Given the description of an element on the screen output the (x, y) to click on. 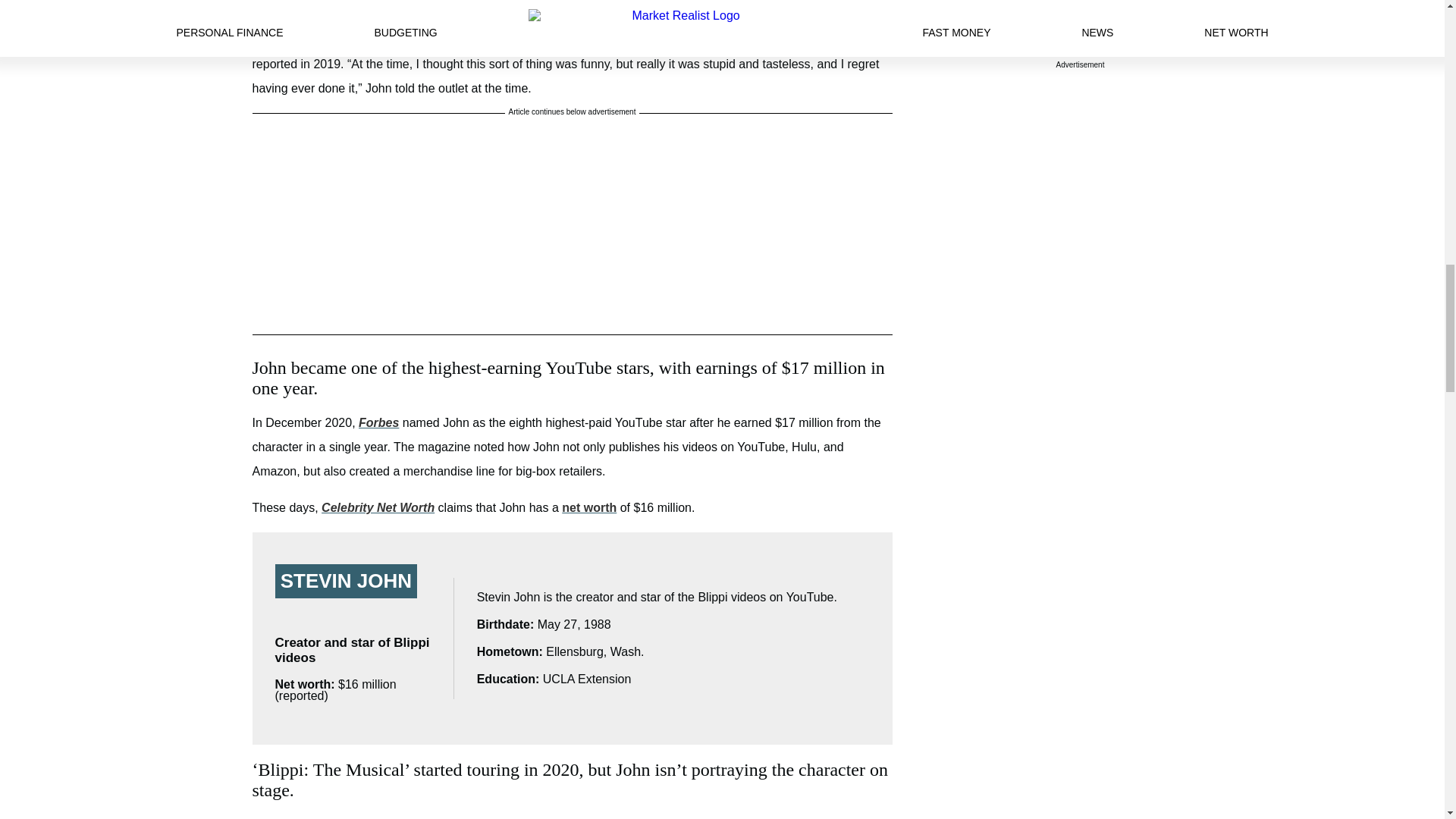
net worth (588, 507)
BuzzFeed News (830, 39)
Forbes (378, 422)
SOURCE: BLIPPI (571, 3)
Celebrity Net Worth (377, 507)
